Given the description of an element on the screen output the (x, y) to click on. 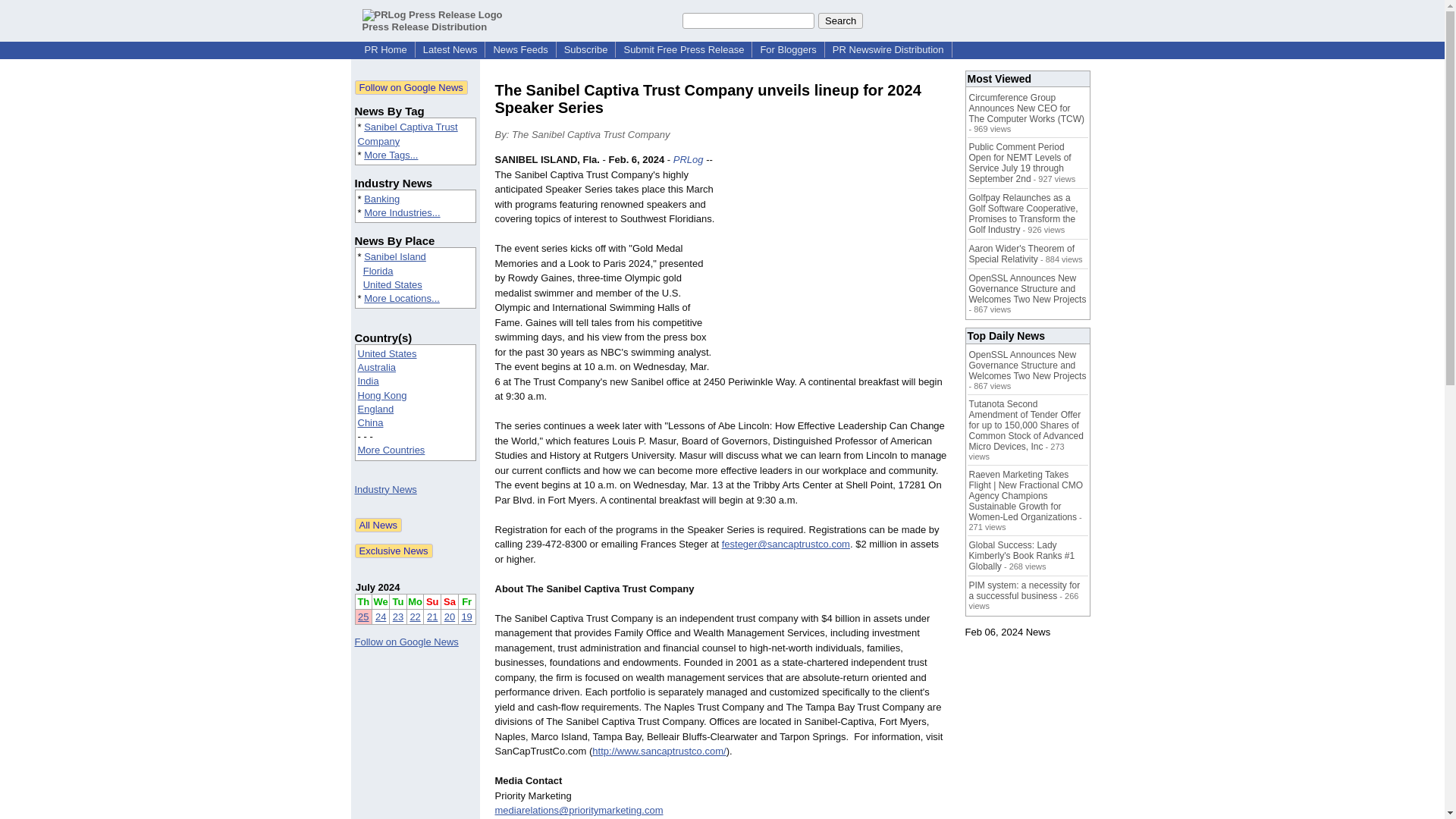
Press Release Distribution (432, 20)
Sanibel Captiva Trust Company (408, 133)
Hong Kong (382, 395)
News Feeds (519, 49)
July 2024 (377, 586)
24 (380, 616)
25 (363, 616)
More Locations... (401, 297)
PR Newswire Distribution (888, 49)
China (371, 422)
20 (449, 616)
21 (432, 616)
Florida (377, 270)
More Tags... (390, 154)
Industry News (385, 489)
